Given the description of an element on the screen output the (x, y) to click on. 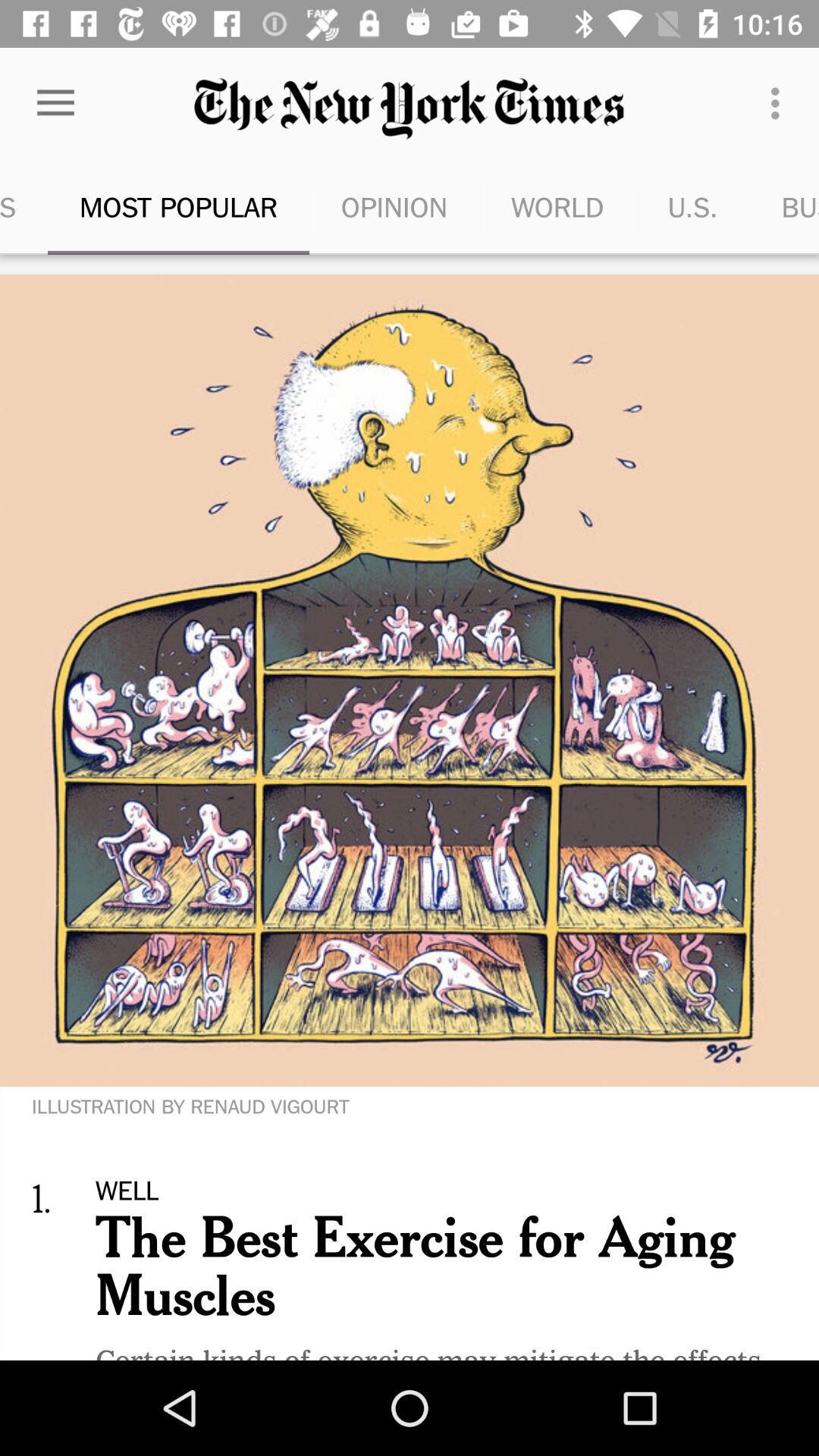
press the icon next to the business day (692, 206)
